Given the description of an element on the screen output the (x, y) to click on. 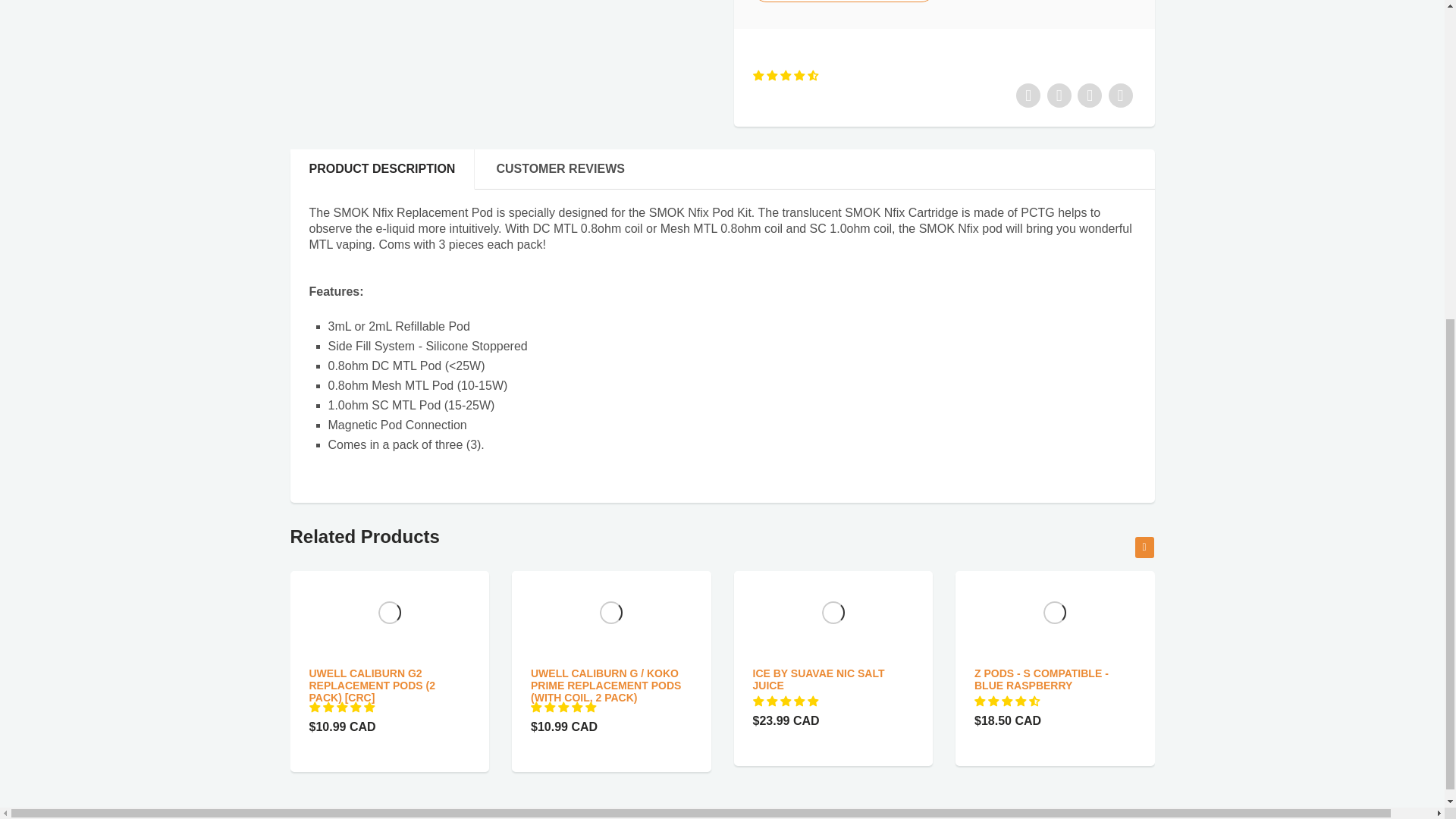
Add to Cart (843, 1)
